Given the description of an element on the screen output the (x, y) to click on. 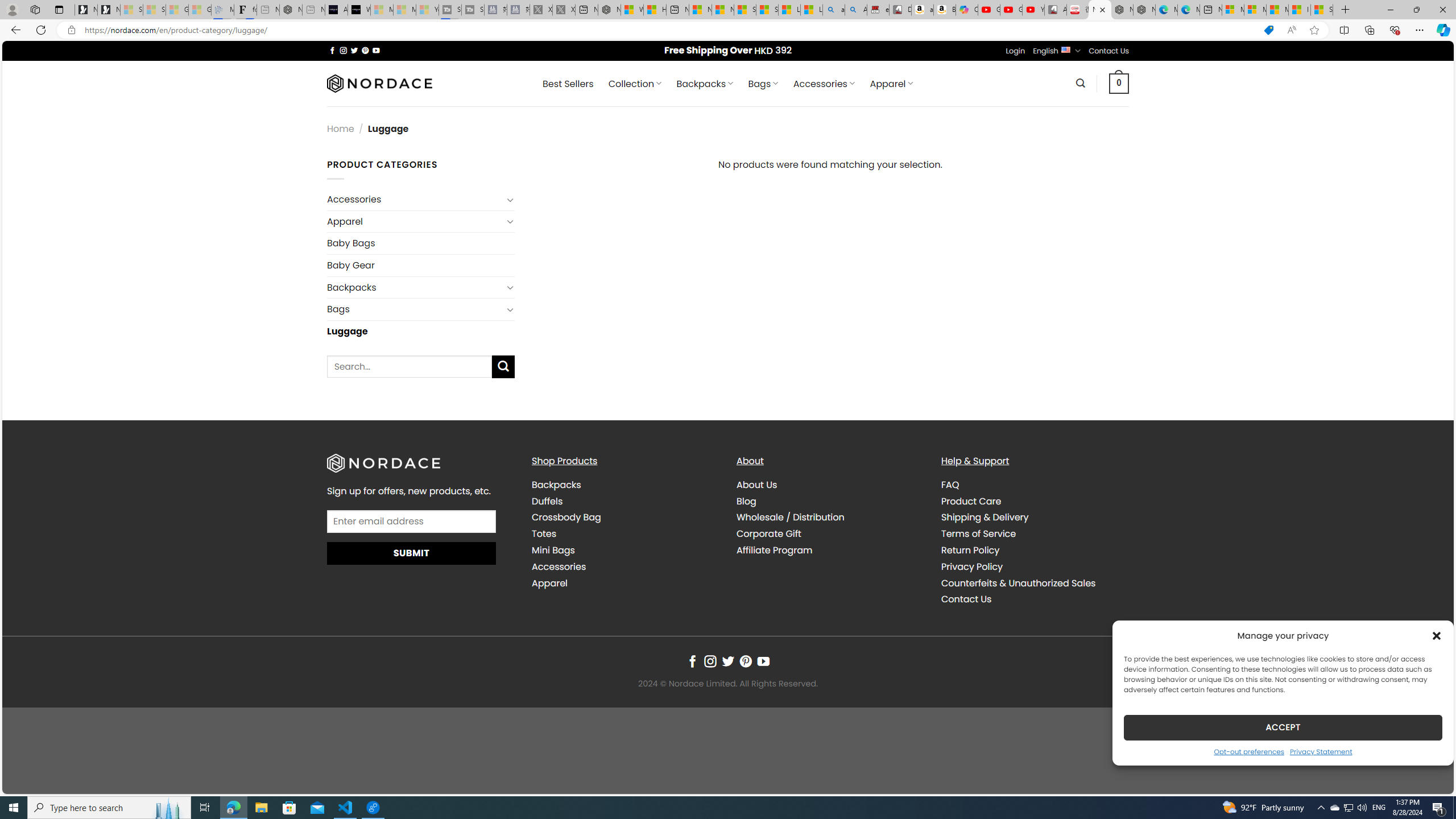
FAQ (1034, 484)
Baby Bags (421, 242)
  Best Sellers (568, 83)
Wholesale / Distribution (830, 517)
Follow on YouTube (763, 661)
Product Care (970, 500)
Nordace - My Account (609, 9)
Apparel (625, 583)
Baby Gear (421, 264)
